Given the description of an element on the screen output the (x, y) to click on. 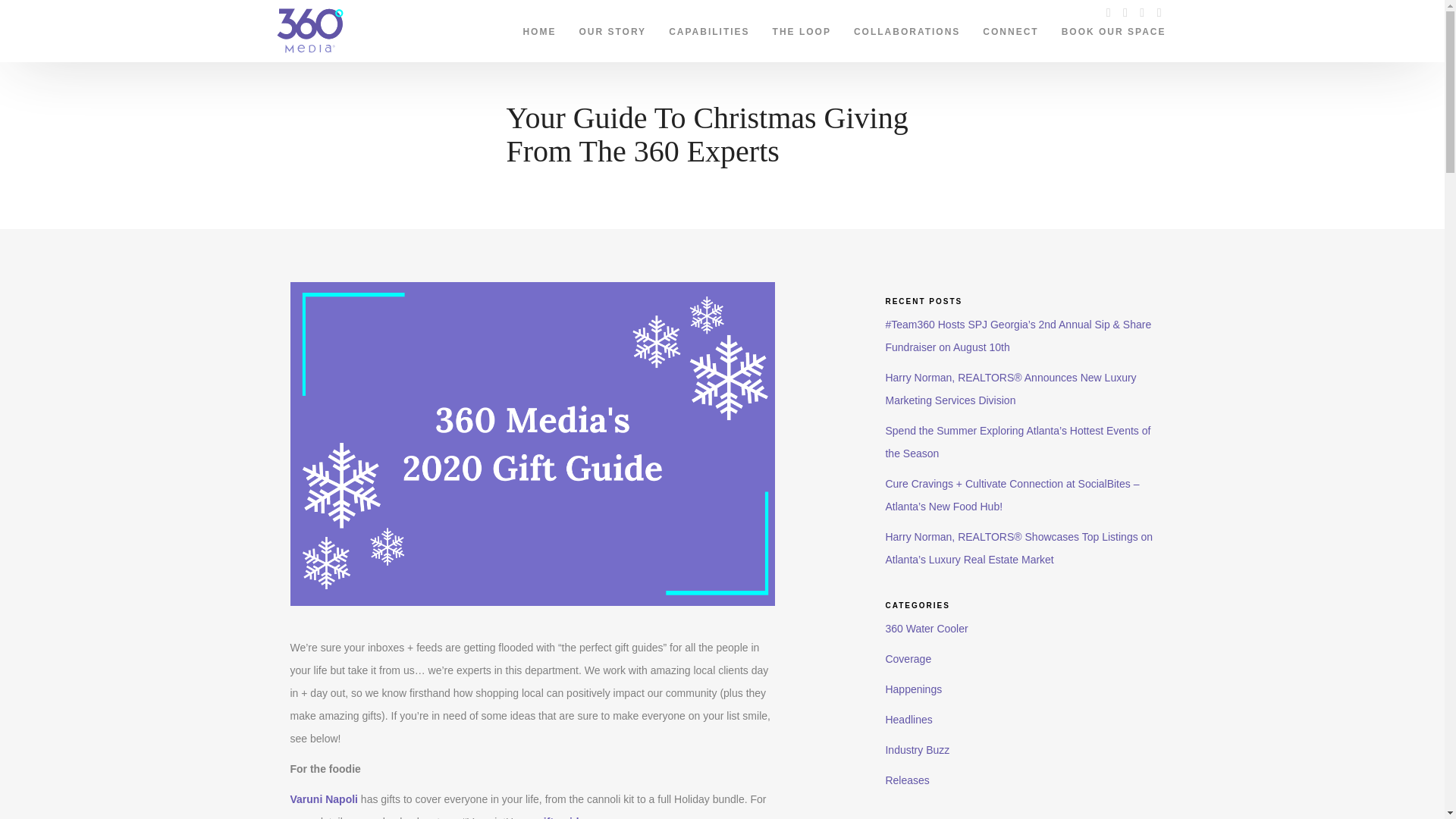
Capabilities (709, 28)
Headlines (908, 719)
Our Story (612, 28)
The Loop (802, 28)
Happenings (913, 689)
360 Water Cooler (926, 628)
Varuni Napoli (322, 799)
CONNECT (1010, 28)
BOOK OUR SPACE (1113, 28)
Collaborations (907, 28)
Releases (906, 779)
CAPABILITIES (709, 28)
Book Our Space (1113, 28)
Home (539, 28)
HOME (539, 28)
